Given the description of an element on the screen output the (x, y) to click on. 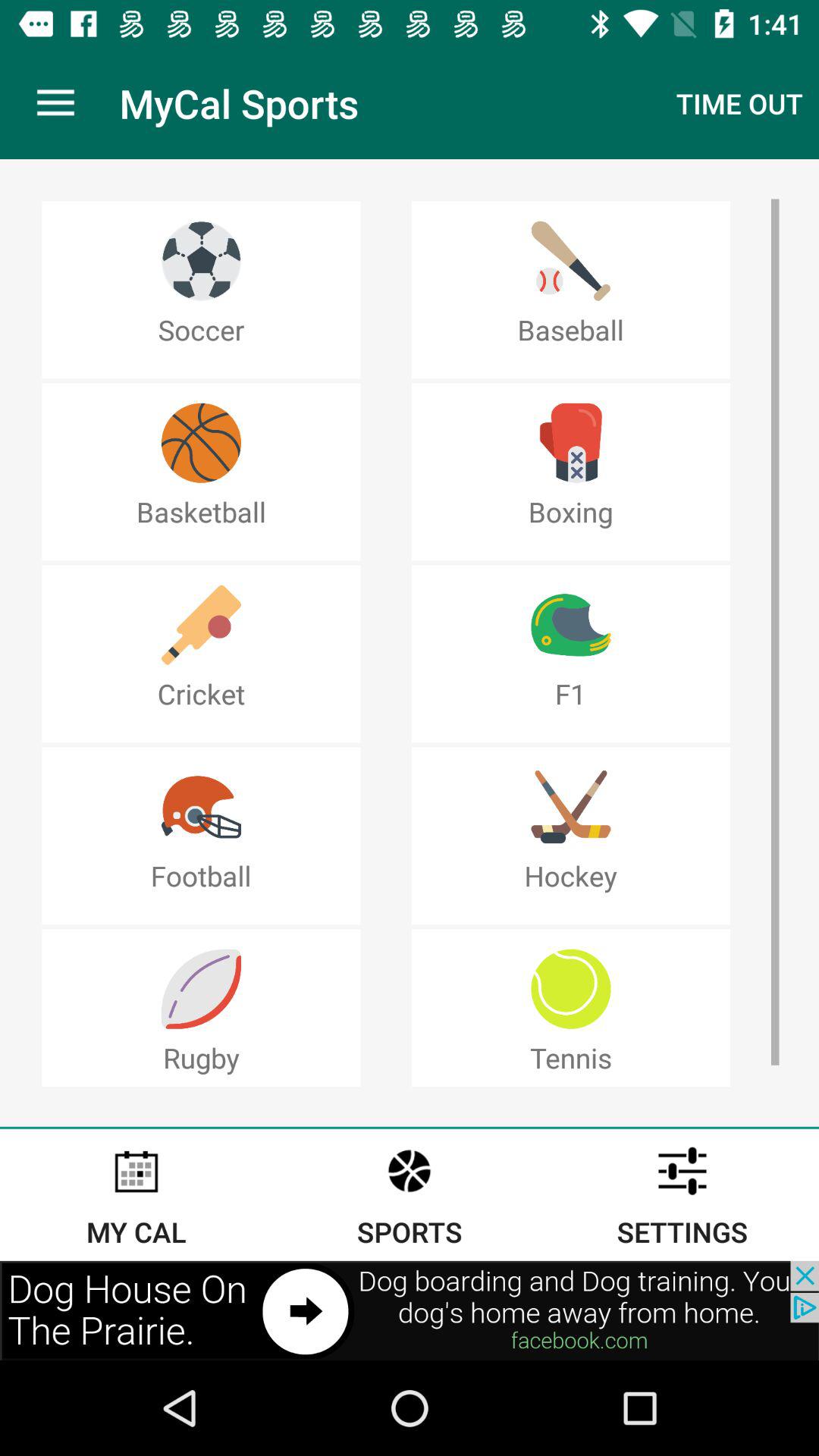
click on time out (739, 103)
select sports tab (409, 1194)
click basketball image (200, 443)
